Given the description of an element on the screen output the (x, y) to click on. 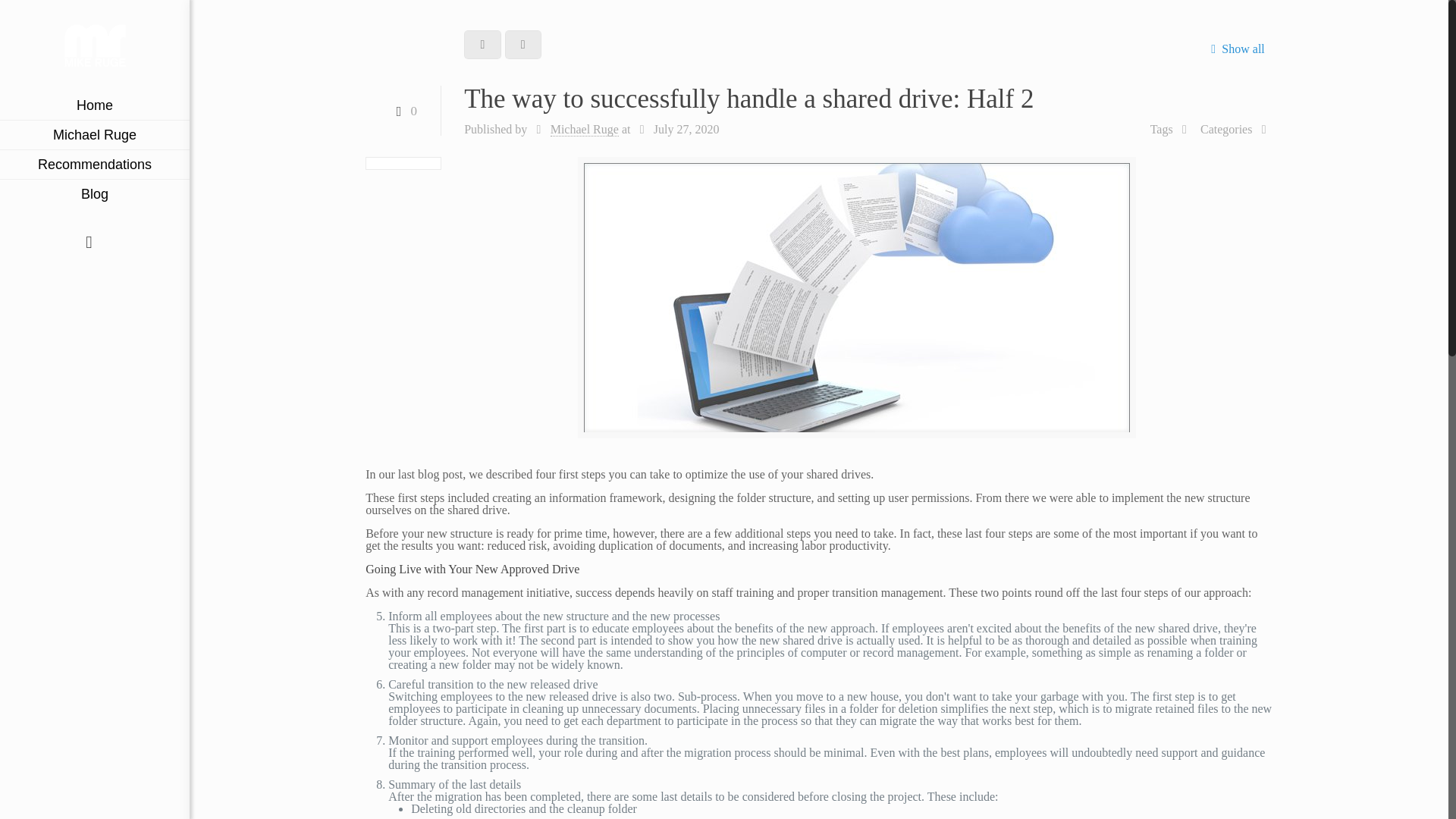
LinkedIn (105, 287)
Show all (1235, 48)
Recommendations (94, 164)
RSS (146, 287)
Blog (94, 193)
Twitter (63, 287)
YouTube (85, 287)
Facebook (42, 287)
Home (94, 105)
0 (402, 110)
